Given the description of an element on the screen output the (x, y) to click on. 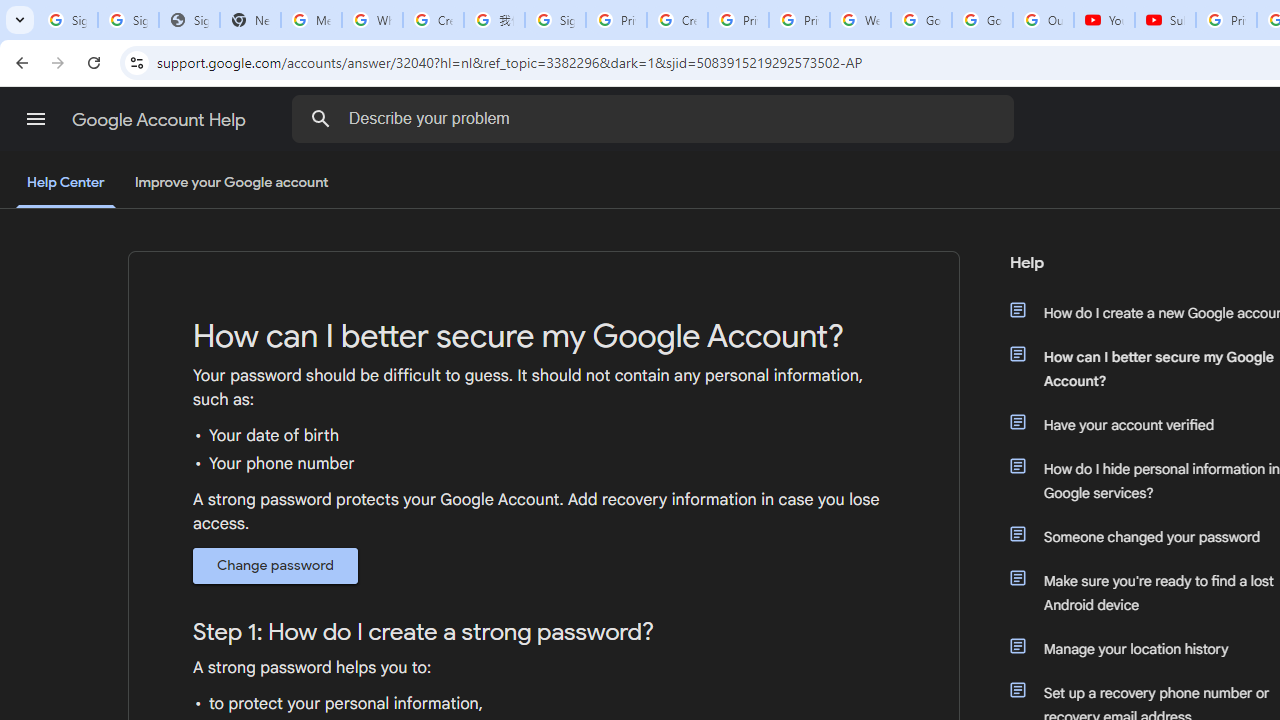
Who is my administrator? - Google Account Help (372, 20)
Sign In - USA TODAY (189, 20)
YouTube (1104, 20)
New Tab (250, 20)
Create your Google Account (676, 20)
Describe your problem (655, 118)
Google Account Help (160, 119)
Google Account (982, 20)
